Given the description of an element on the screen output the (x, y) to click on. 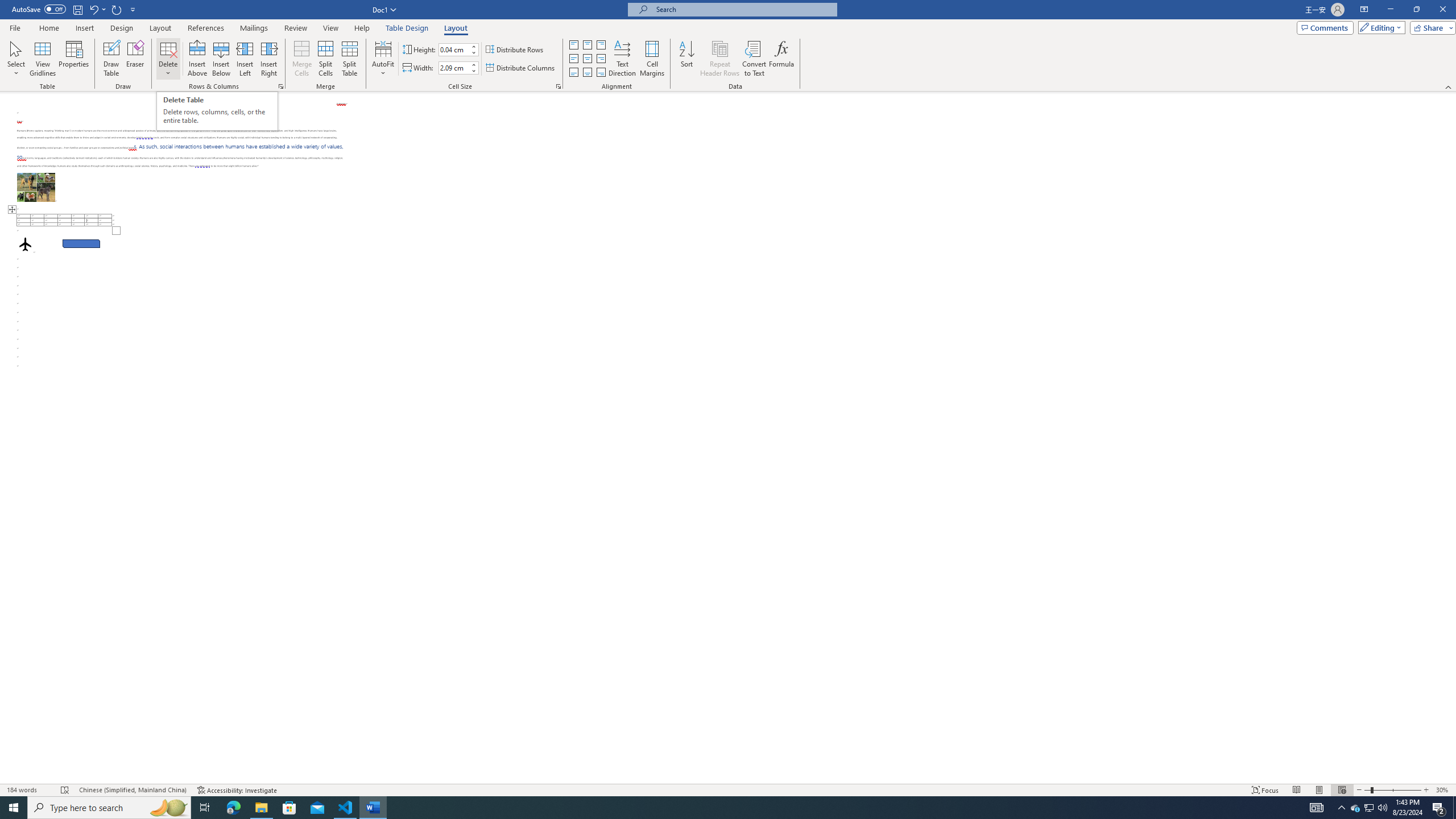
Align Center Right (601, 58)
Insert Cells... (280, 85)
Insert Above (196, 58)
Word Count 184 words (28, 790)
Undo Row Height Spinner (92, 9)
Insert Left (244, 58)
Repeat Header Rows (719, 58)
Insert Below (220, 58)
